Given the description of an element on the screen output the (x, y) to click on. 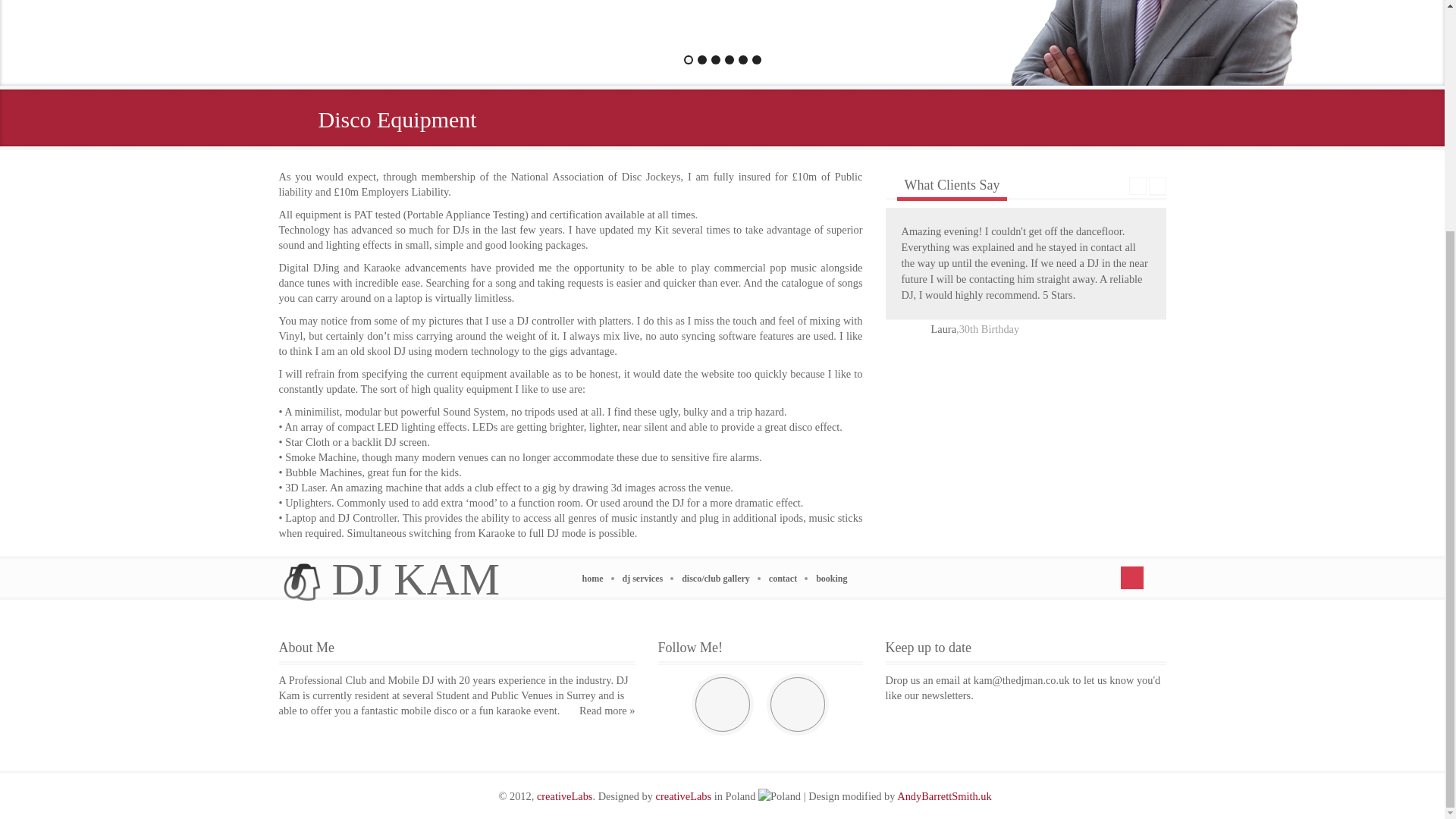
dj services (647, 578)
creativeLabs (683, 796)
home (598, 578)
booking (837, 578)
DJ KAM (390, 579)
contact (788, 578)
creativeLabs (564, 796)
AndyBarrettSmith.uk (943, 796)
